Given the description of an element on the screen output the (x, y) to click on. 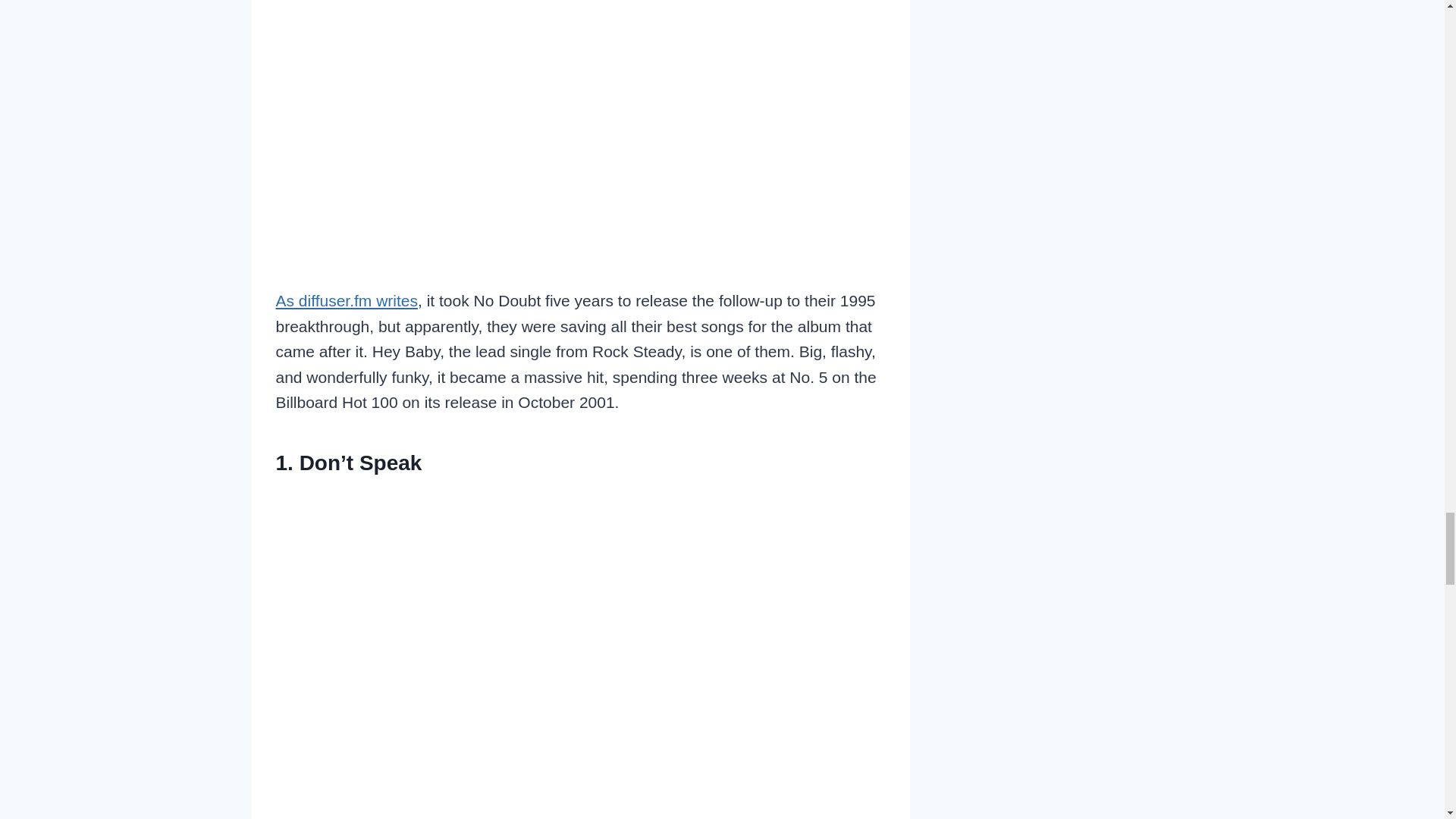
As diffuser.fm writes (347, 300)
No Doubt - Hey Baby (581, 107)
